Given the description of an element on the screen output the (x, y) to click on. 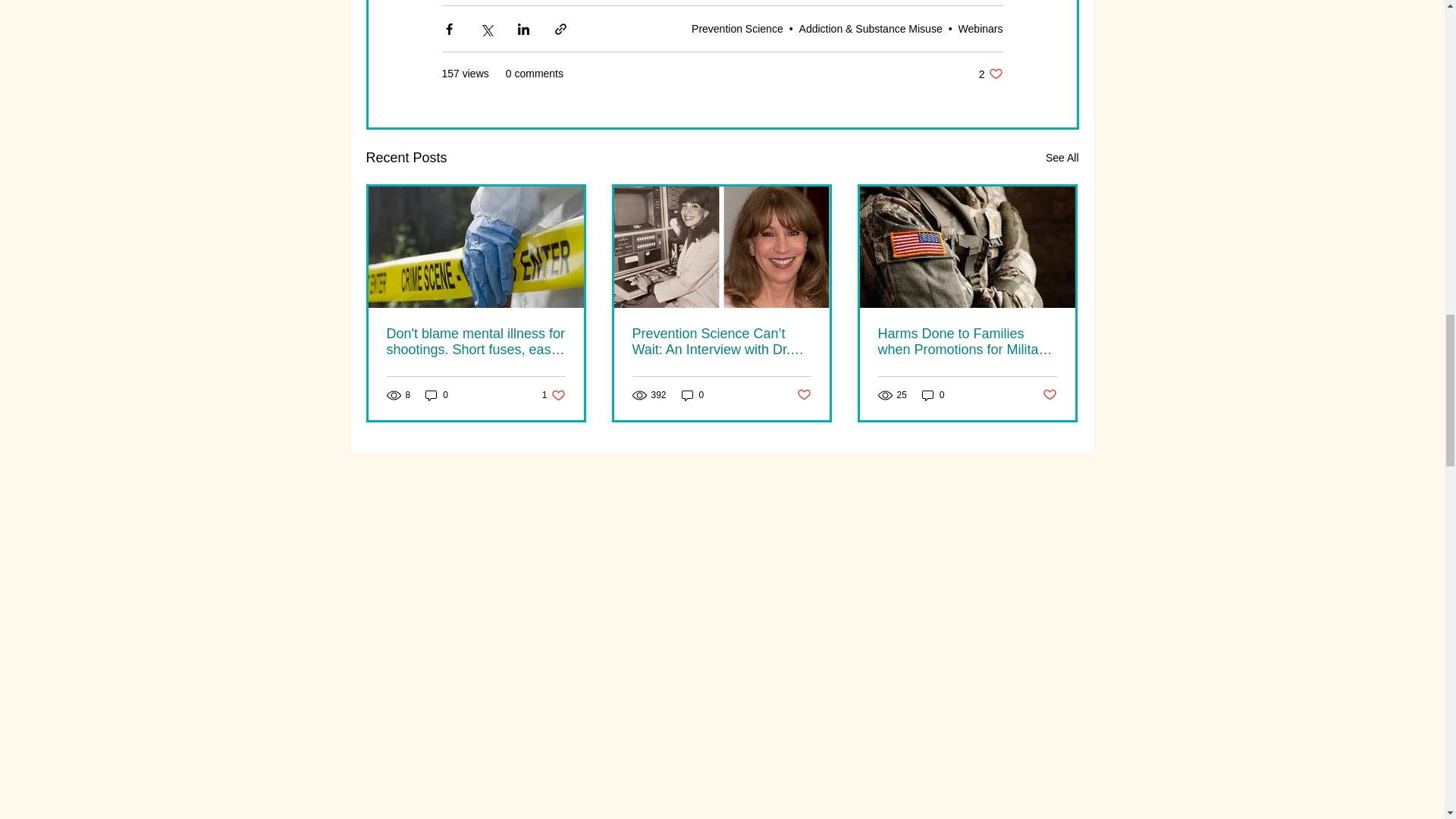
Prevention Science (990, 73)
0 (737, 28)
Post not marked as liked (692, 395)
0 (803, 394)
Webinars (436, 395)
0 (553, 395)
